Given the description of an element on the screen output the (x, y) to click on. 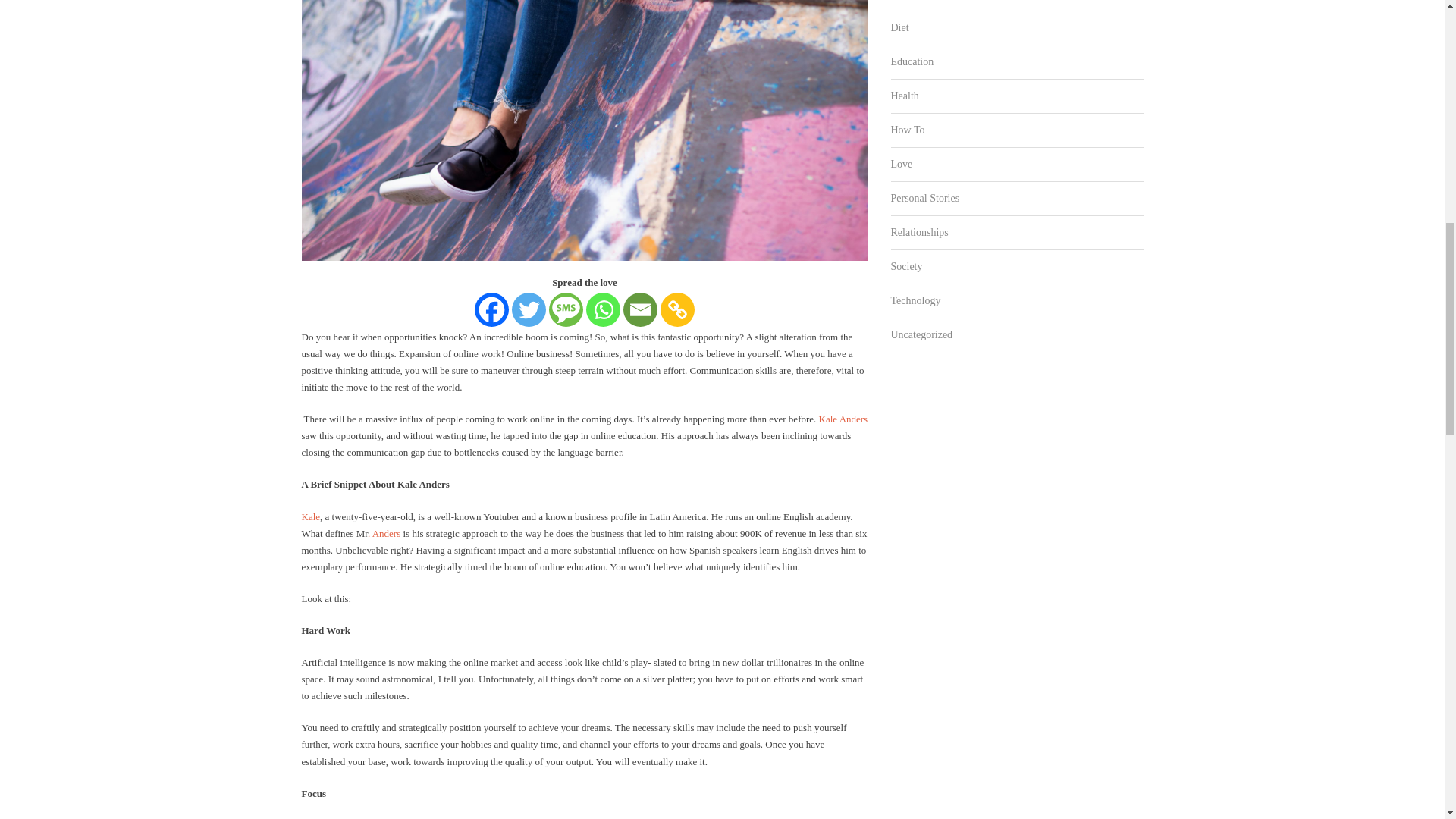
Copy Link (677, 309)
SMS (565, 309)
Kale Anders (842, 419)
Whatsapp (603, 309)
Kale (310, 516)
Facebook (491, 309)
. Anders (384, 532)
Twitter (529, 309)
Email (640, 309)
